Given the description of an element on the screen output the (x, y) to click on. 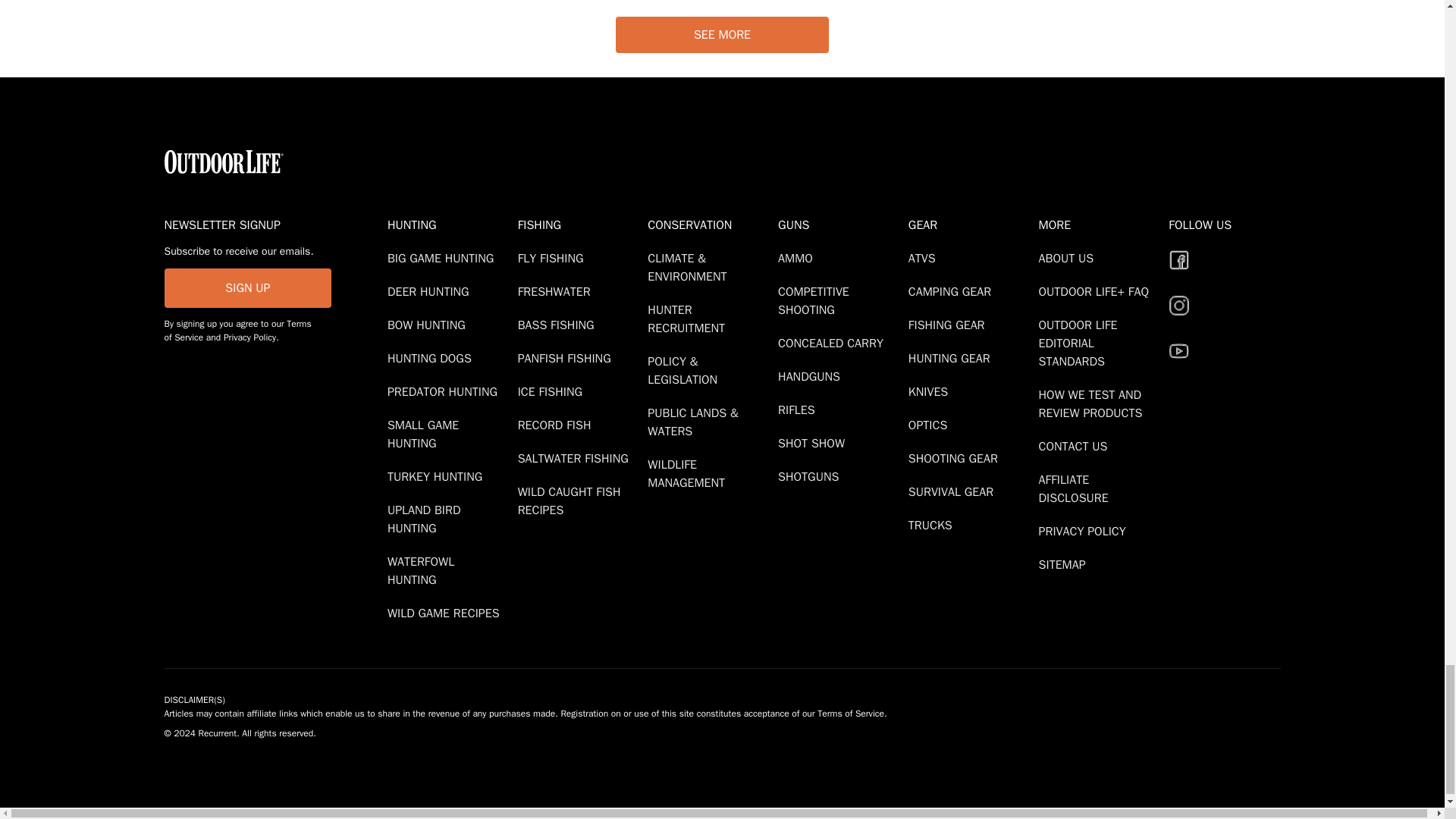
Conservation (709, 225)
Big Game Hunting (443, 258)
Deer Hunting (431, 291)
Fishing (580, 225)
Fly Fishing (553, 258)
Hunting (449, 225)
